Given the description of an element on the screen output the (x, y) to click on. 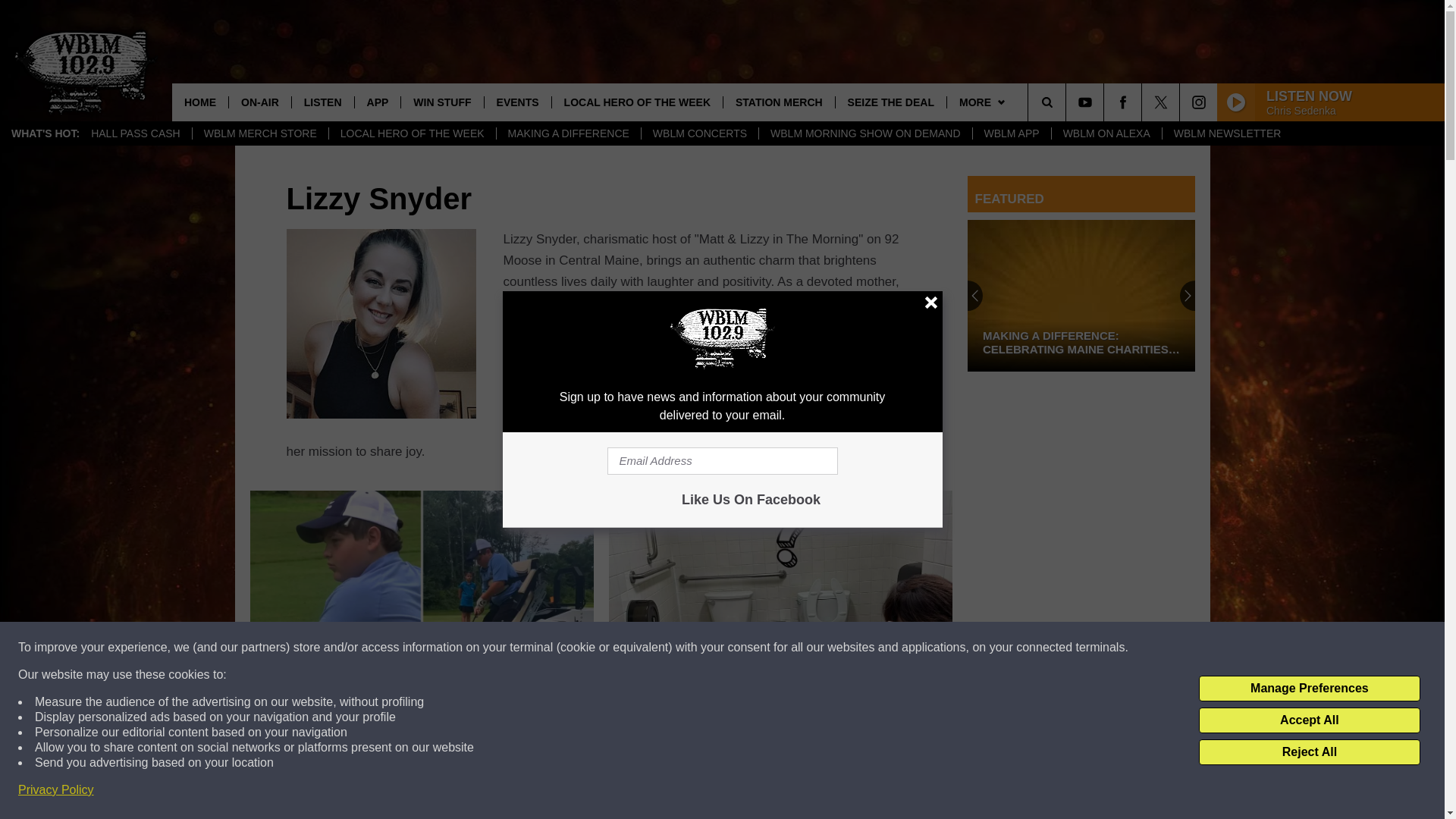
WBLM ON ALEXA (1106, 133)
HALL PASS CASH (136, 133)
WBLM MERCH STORE (260, 133)
Email Address (722, 461)
LOCAL HERO OF THE WEEK (412, 133)
WBLM CONCERTS (699, 133)
APP (377, 102)
WBLM MORNING SHOW ON DEMAND (864, 133)
LISTEN (322, 102)
WBLM NEWSLETTER (1226, 133)
HOME (199, 102)
WBLM APP (1011, 133)
SEARCH (1068, 102)
Manage Preferences (1309, 688)
WIN STUFF (441, 102)
